Given the description of an element on the screen output the (x, y) to click on. 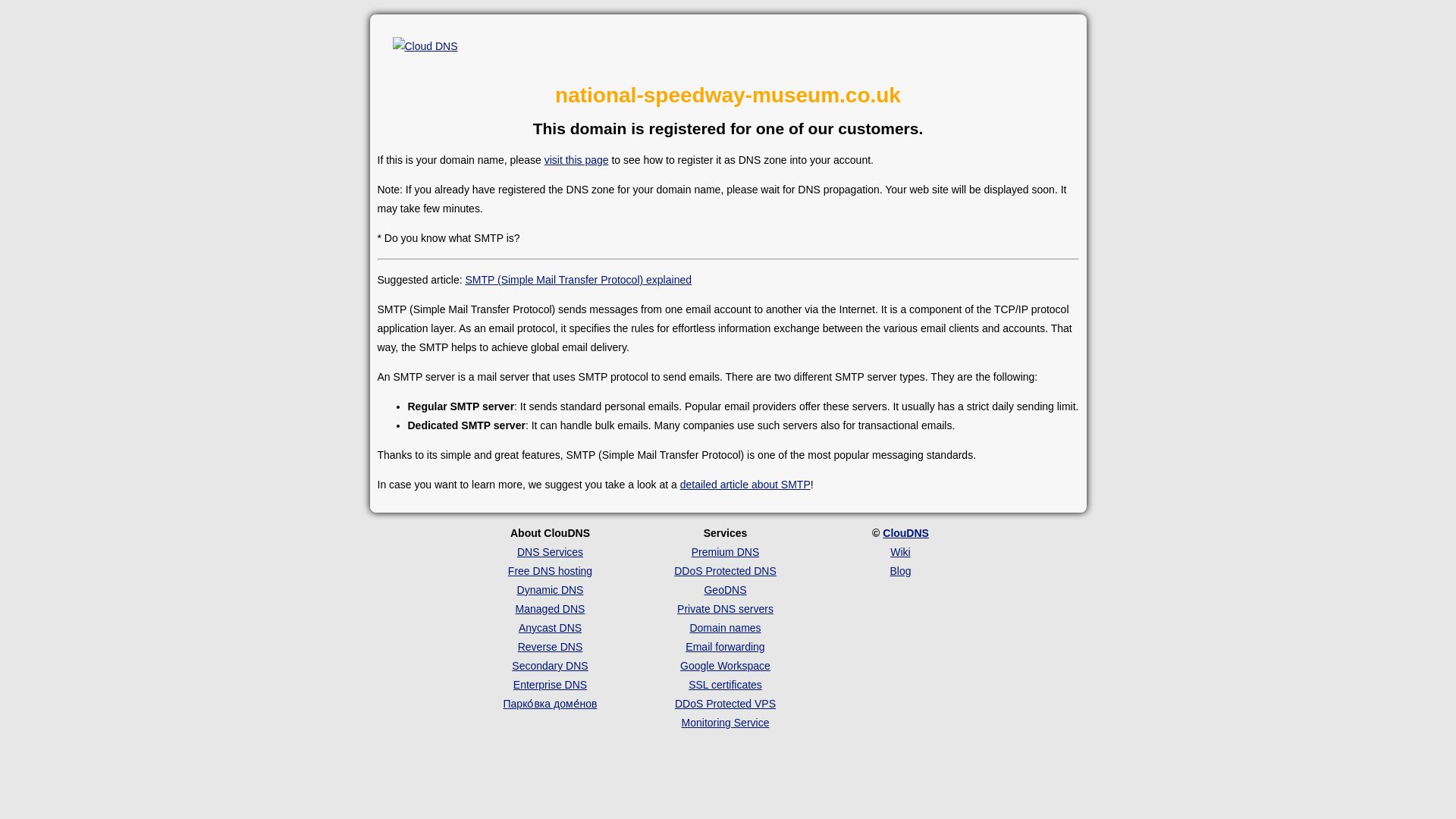
DDoS Protected VPS (725, 703)
SSL certificates (724, 684)
Cloud DNS (425, 46)
detailed article about SMTP (744, 484)
GeoDNS (724, 589)
Managed DNS (550, 608)
Blog (900, 571)
Google Workspace (724, 665)
Secondary DNS (550, 665)
Reverse DNS (550, 646)
Private DNS servers (725, 608)
DNS Services (549, 551)
Free DNS hosting (550, 571)
Domain names (724, 627)
DDoS Protected DNS (725, 571)
